Given the description of an element on the screen output the (x, y) to click on. 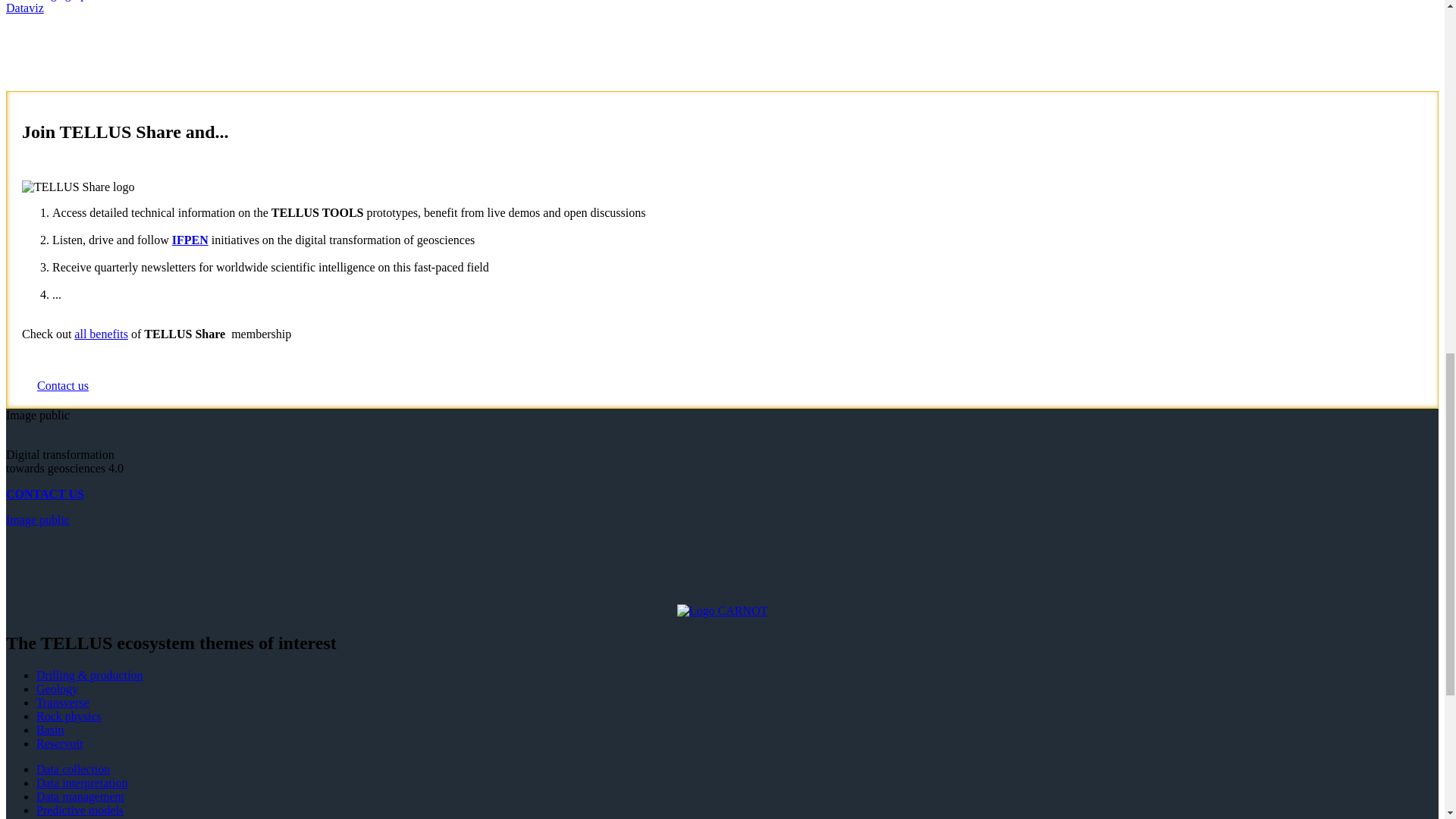
Reservoir (59, 743)
Dataviz (24, 7)
Predictive models (79, 809)
Rock physics (68, 716)
all benefits (101, 333)
Basin (50, 729)
Data collection (73, 768)
IFPEN ressources energetiques Carnot institute (722, 610)
Contact  (44, 493)
